Given the description of an element on the screen output the (x, y) to click on. 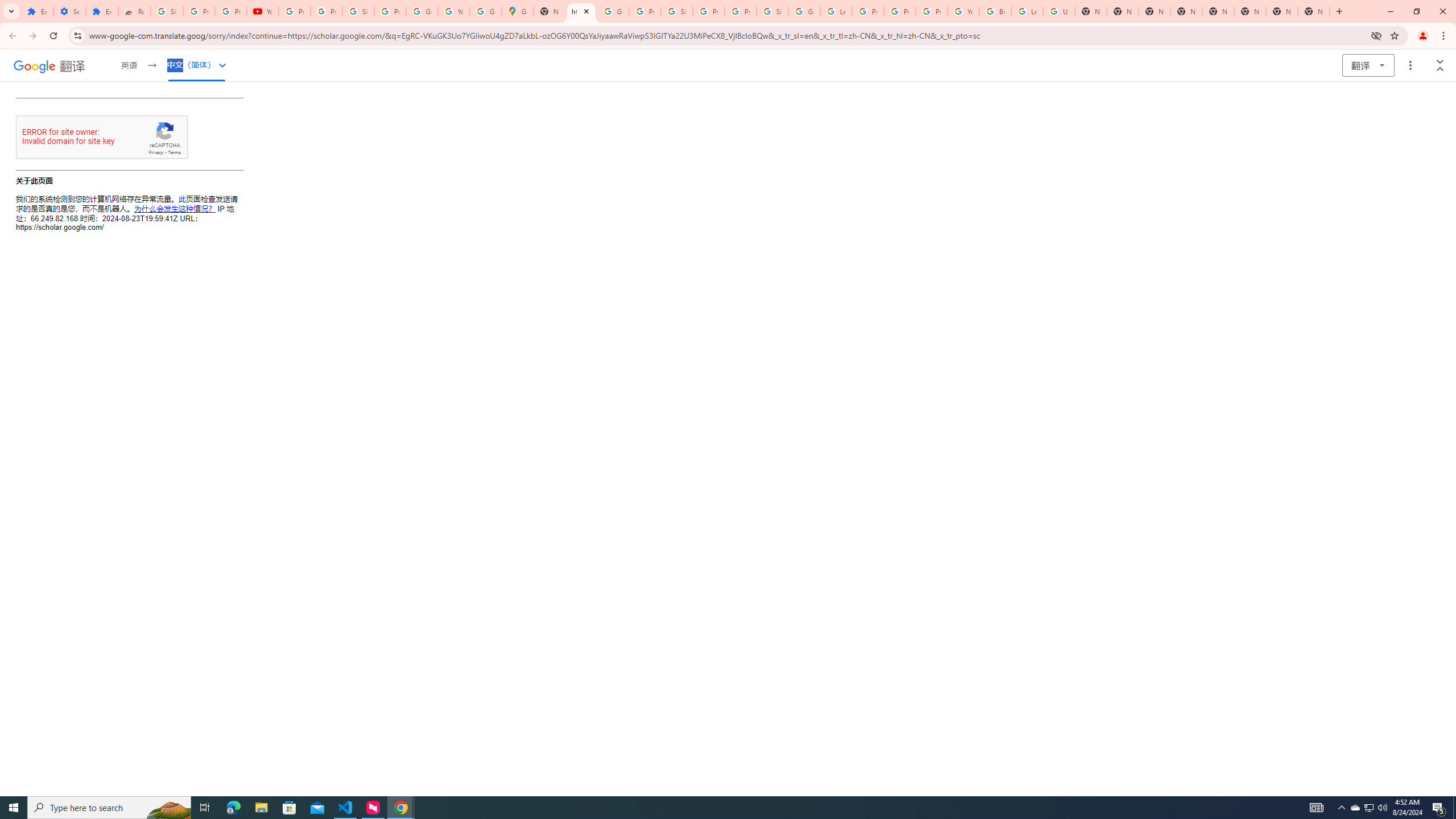
YouTube (453, 11)
Sign in - Google Accounts (676, 11)
